Given the description of an element on the screen output the (x, y) to click on. 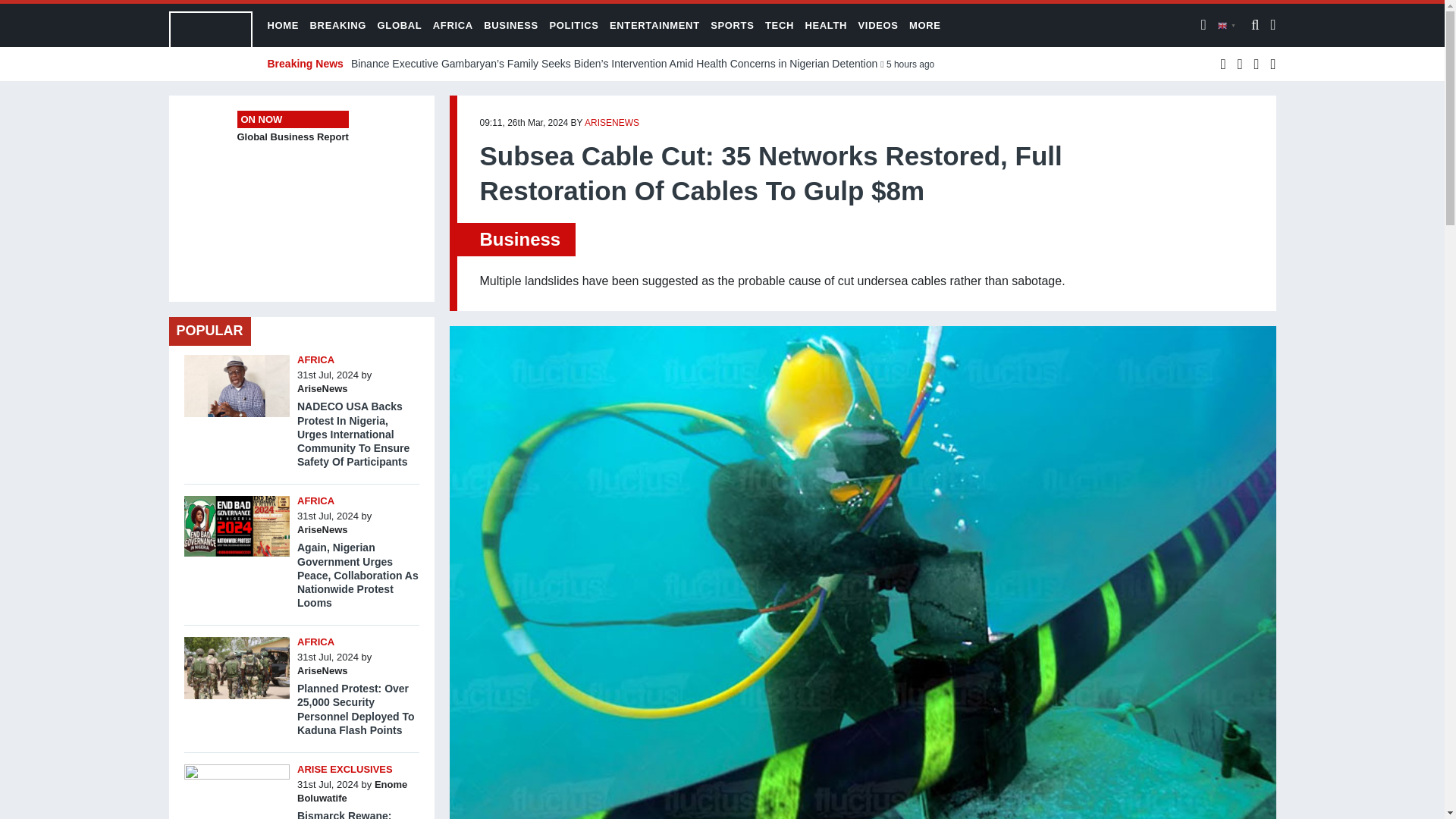
AriseNews (322, 388)
Posts by AriseNews (322, 529)
AFRICA (315, 641)
AriseNews (322, 670)
AriseNews (322, 529)
Enome Boluwatife (352, 790)
Posts by AriseNews (322, 670)
AFRICA (315, 359)
ARISENEWS (612, 122)
Posts by AriseNews (612, 122)
